Given the description of an element on the screen output the (x, y) to click on. 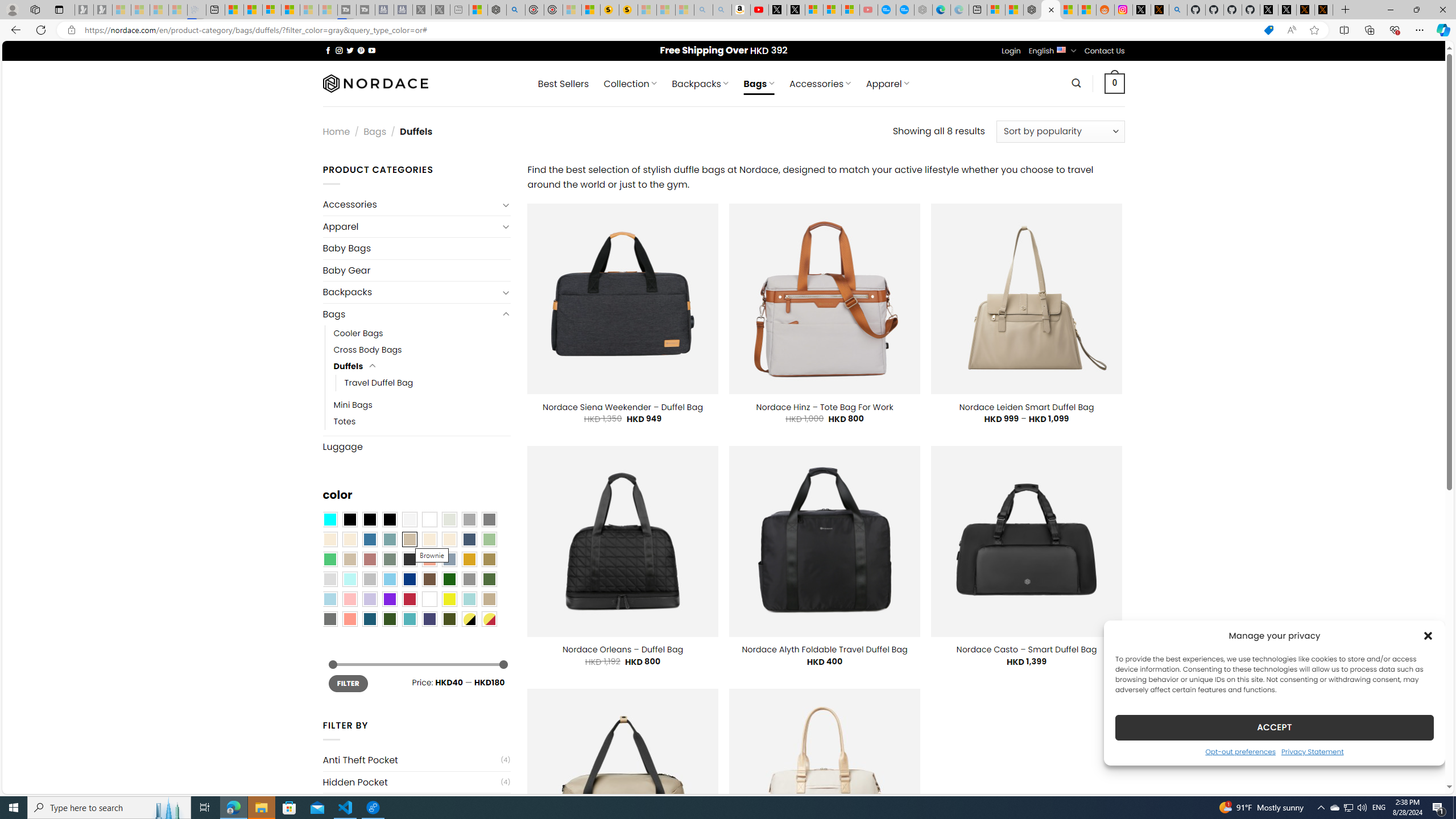
Class: cmplz-close (1428, 635)
Dull Nickle (329, 618)
The most popular Google 'how to' searches (904, 9)
Ash Gray (449, 519)
Light Green (488, 539)
Beige-Brown (349, 539)
Brown (429, 579)
